Given the description of an element on the screen output the (x, y) to click on. 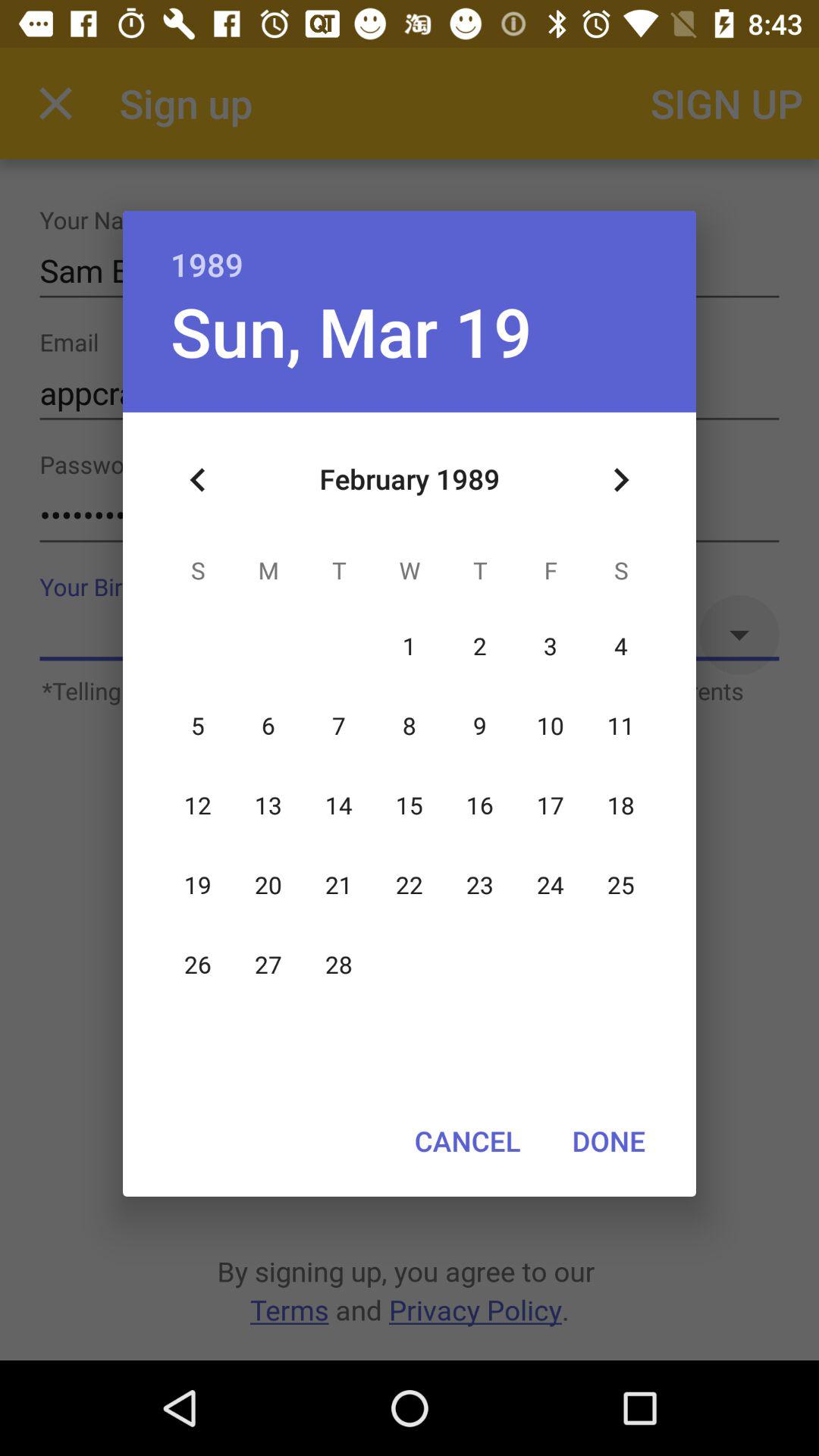
select done item (608, 1140)
